Given the description of an element on the screen output the (x, y) to click on. 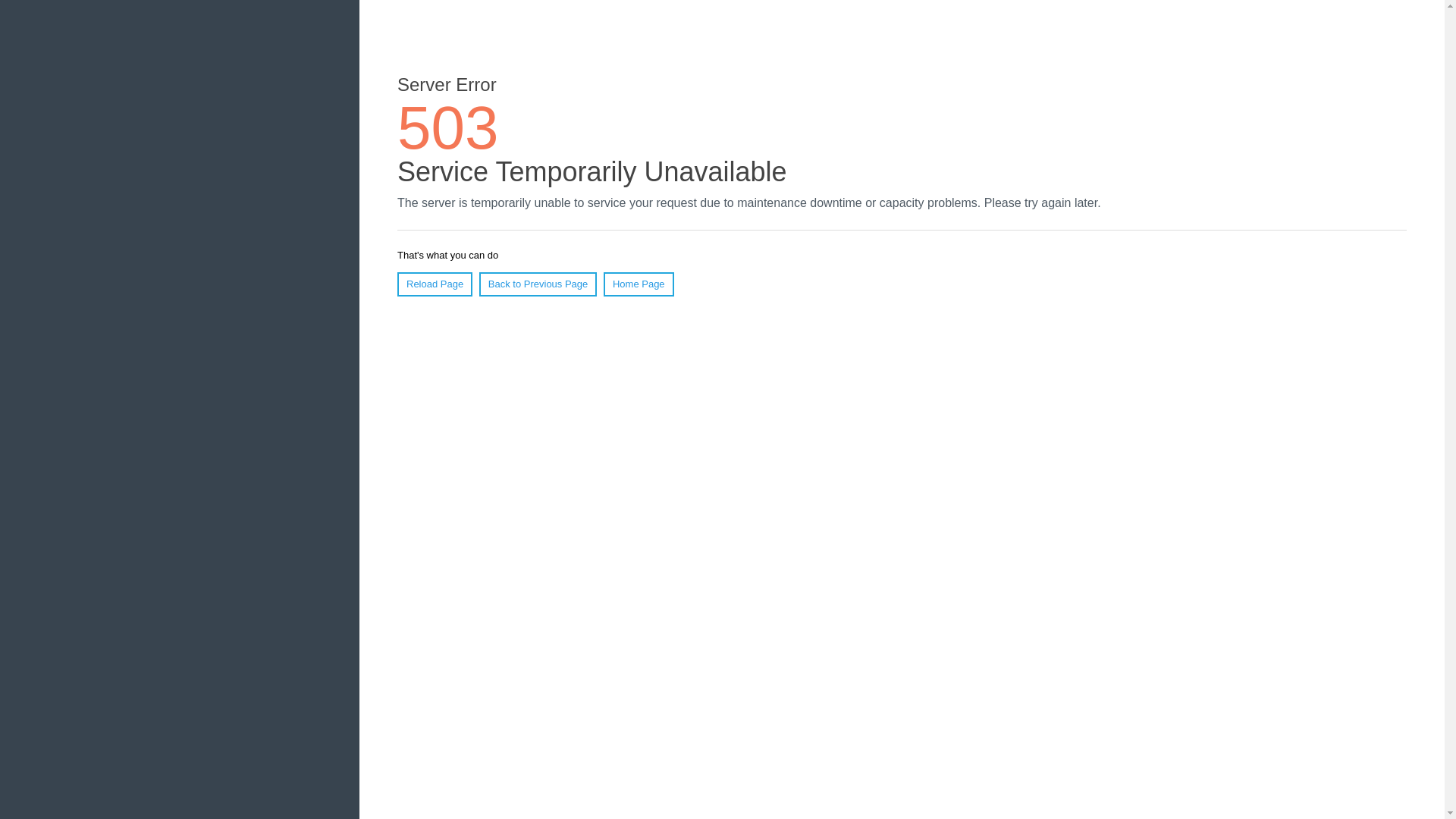
Home Page (639, 283)
Back to Previous Page (537, 283)
Reload Page (434, 283)
